Given the description of an element on the screen output the (x, y) to click on. 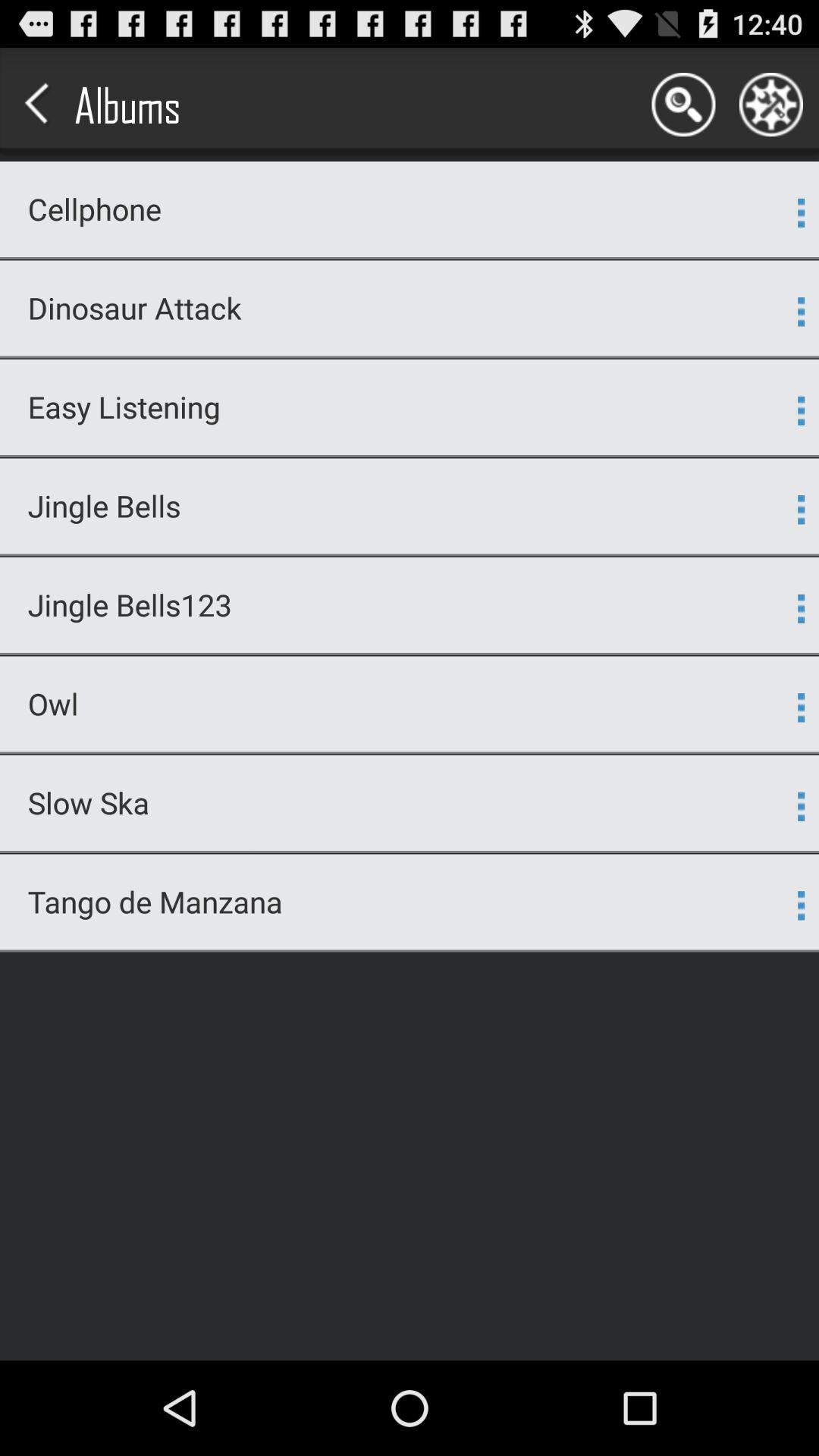
turn on the icon above jingle bells item (409, 456)
